Given the description of an element on the screen output the (x, y) to click on. 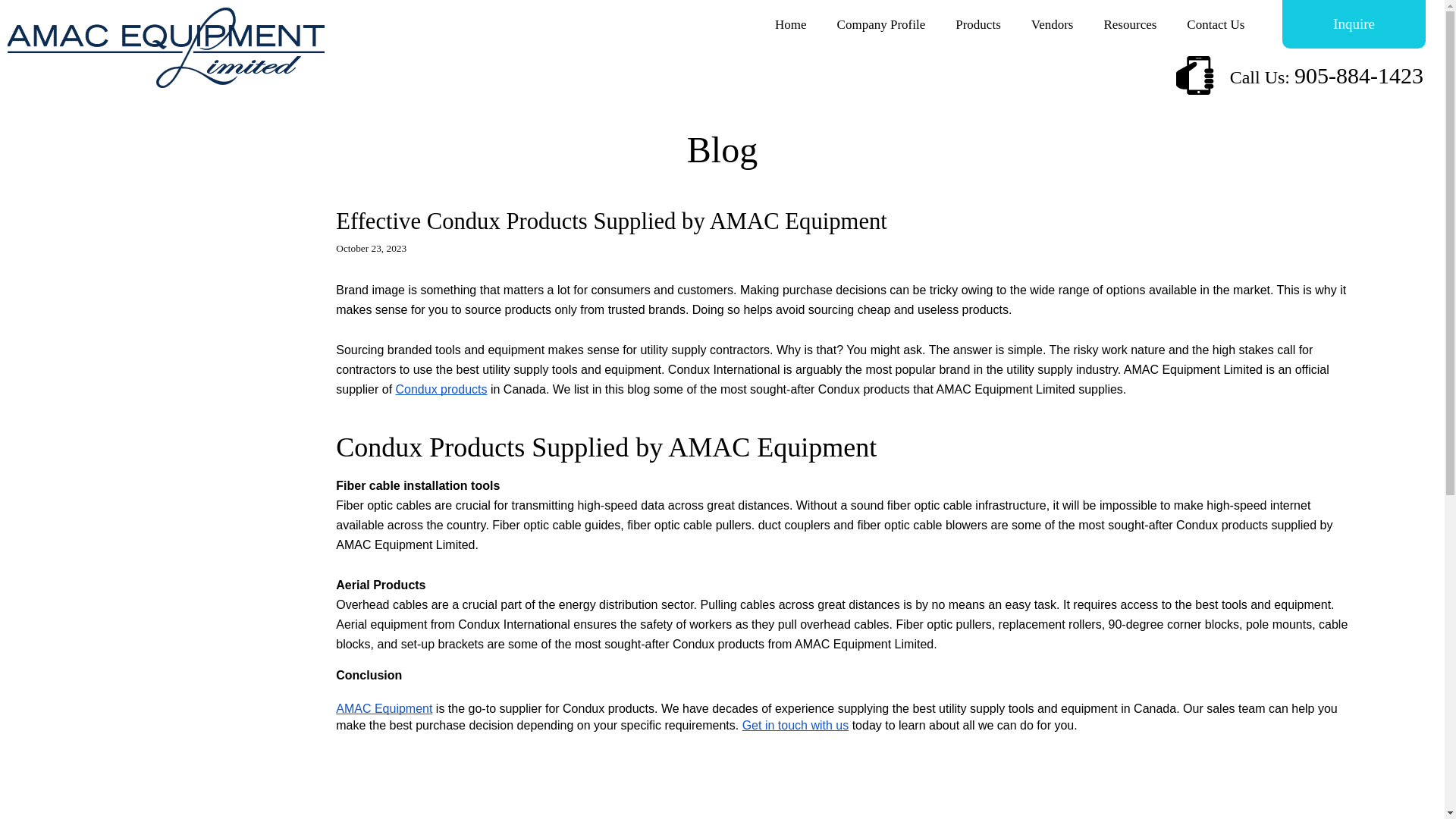
Condux products (441, 388)
Resources (1129, 24)
Amac (165, 49)
Resources (1129, 24)
Contact Us (1215, 24)
Company Profile (881, 24)
Inquire (1353, 24)
Products (978, 24)
Contact Us (1215, 24)
Products (978, 24)
